Given the description of an element on the screen output the (x, y) to click on. 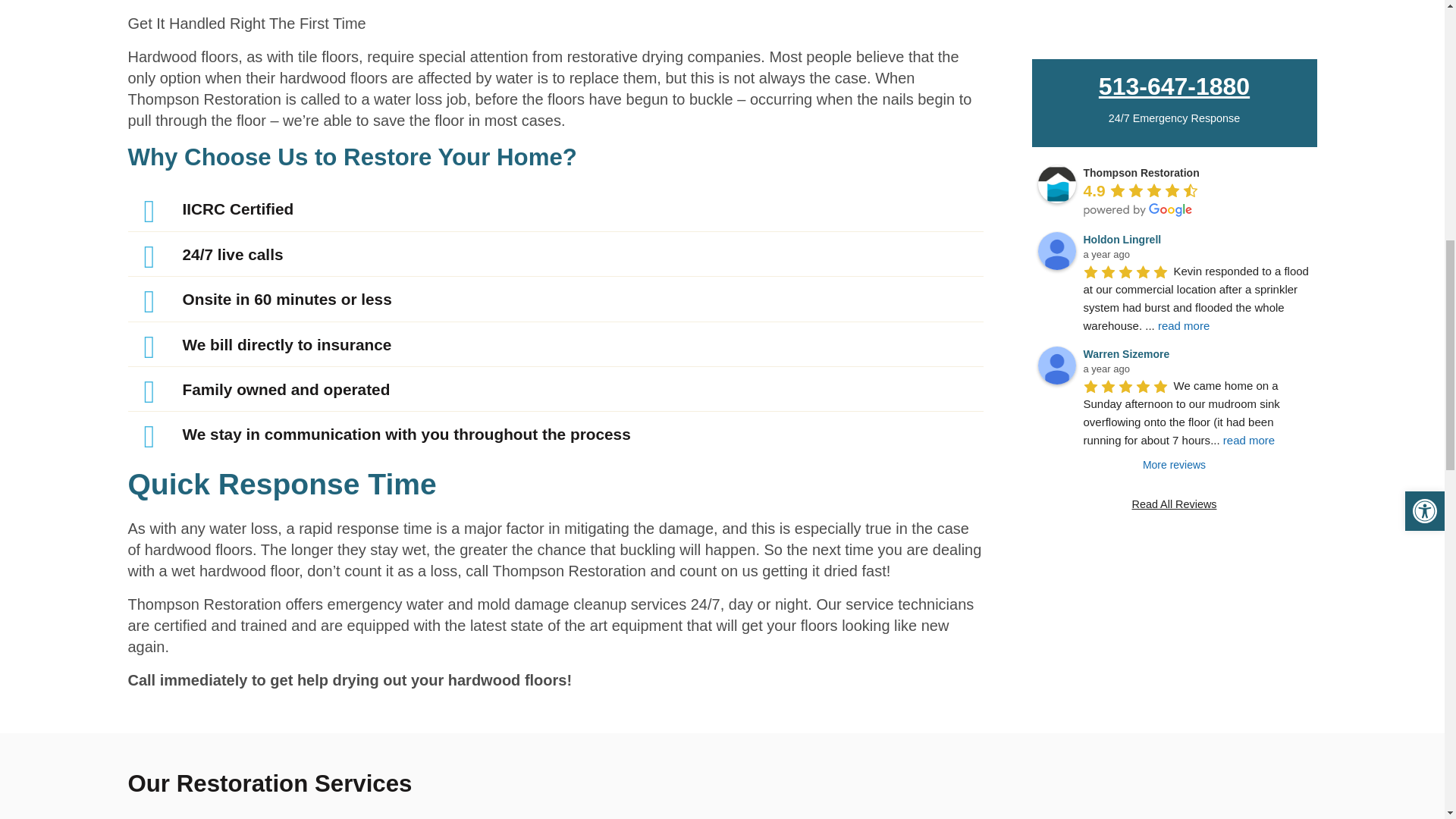
Holdon Lingrell (1055, 23)
Warren Sizemore (1055, 137)
